Given the description of an element on the screen output the (x, y) to click on. 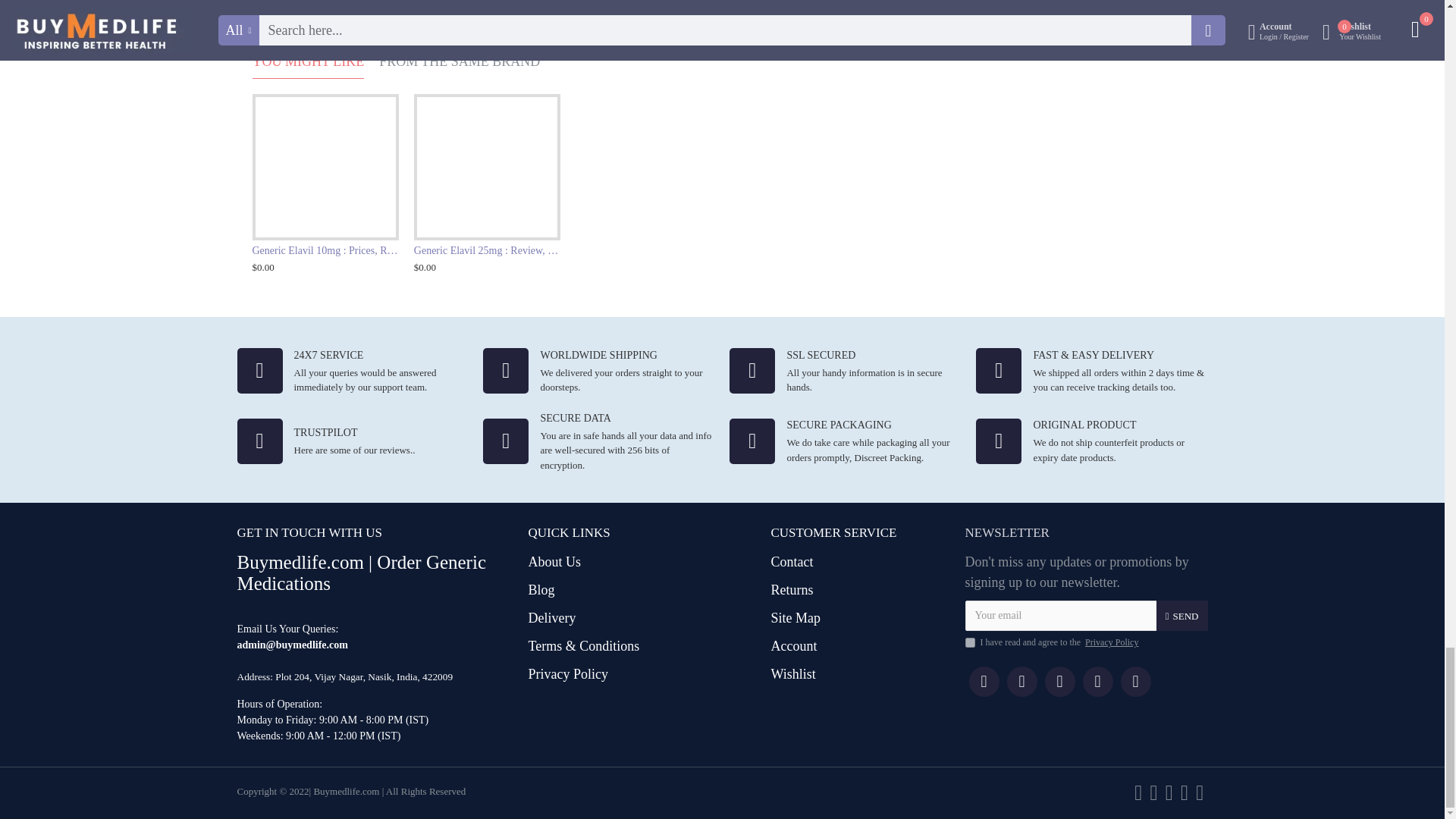
1 (968, 642)
